Given the description of an element on the screen output the (x, y) to click on. 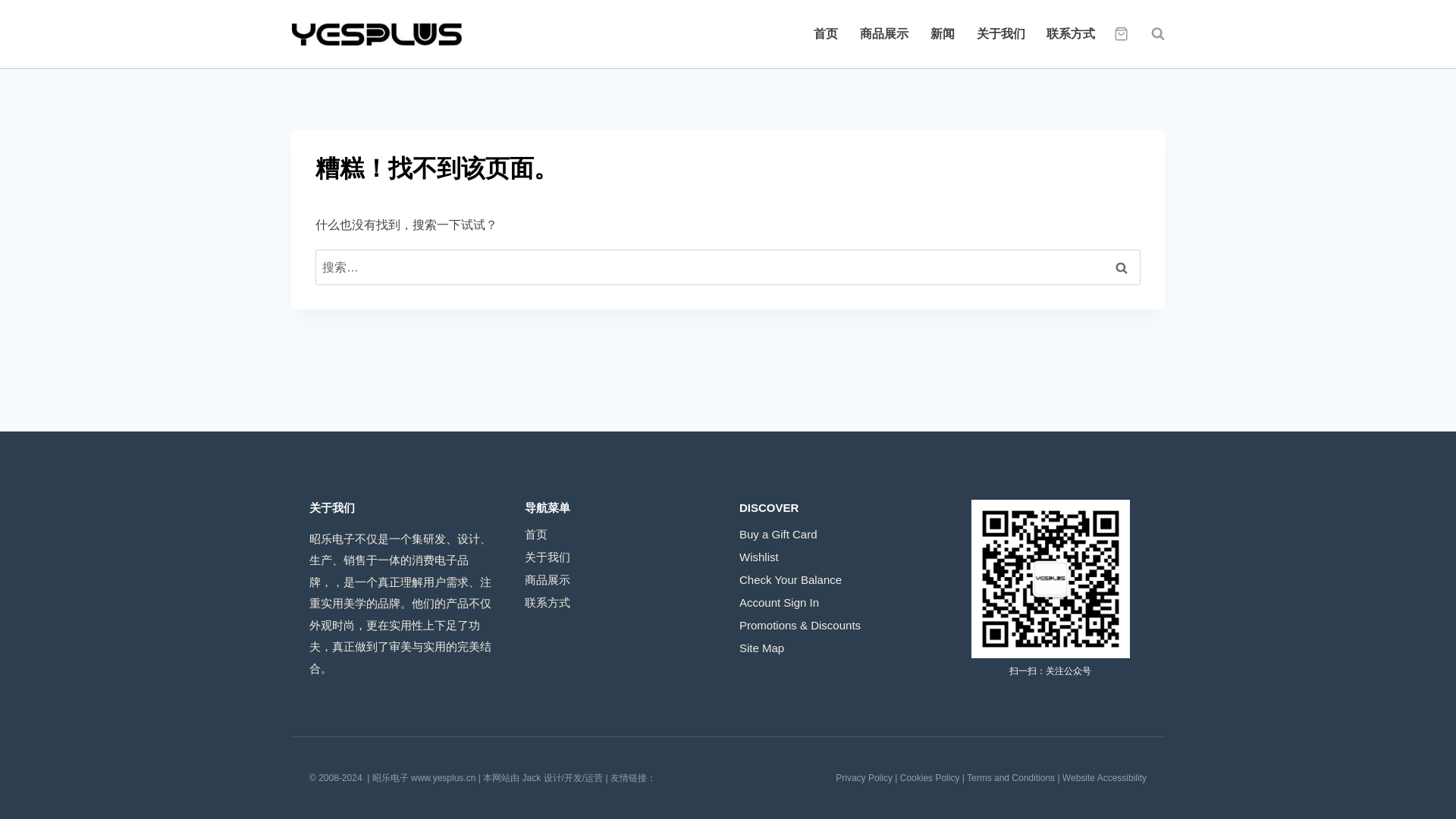
Check Your Balance (835, 579)
Wishlist (835, 556)
Account Sign In (835, 601)
Buy a Gift Card (835, 533)
Site Map (835, 647)
